Given the description of an element on the screen output the (x, y) to click on. 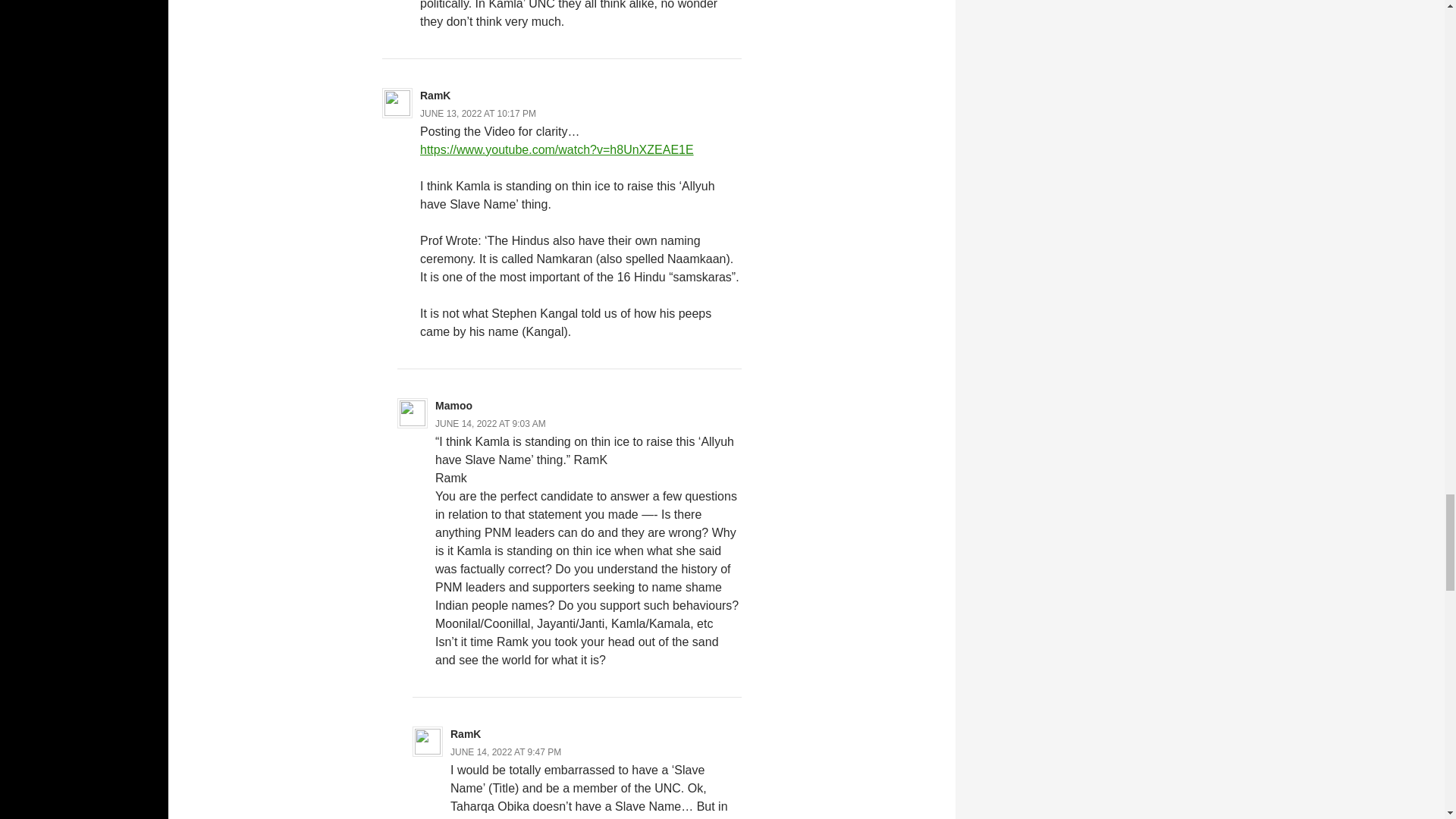
JUNE 14, 2022 AT 9:47 PM (504, 751)
JUNE 13, 2022 AT 10:17 PM (477, 113)
JUNE 14, 2022 AT 9:03 AM (490, 423)
